Given the description of an element on the screen output the (x, y) to click on. 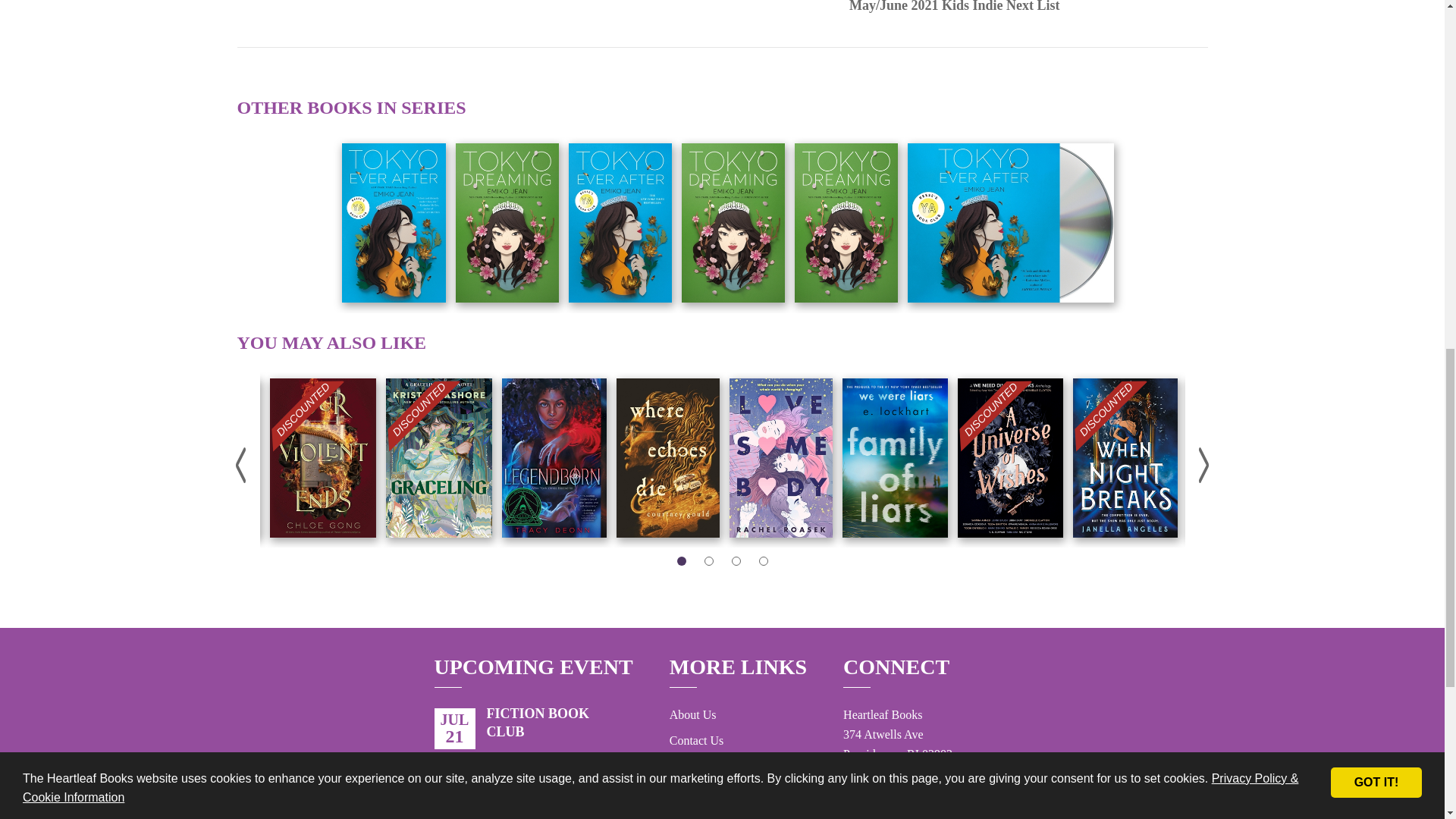
GOT IT! (1376, 52)
